Given the description of an element on the screen output the (x, y) to click on. 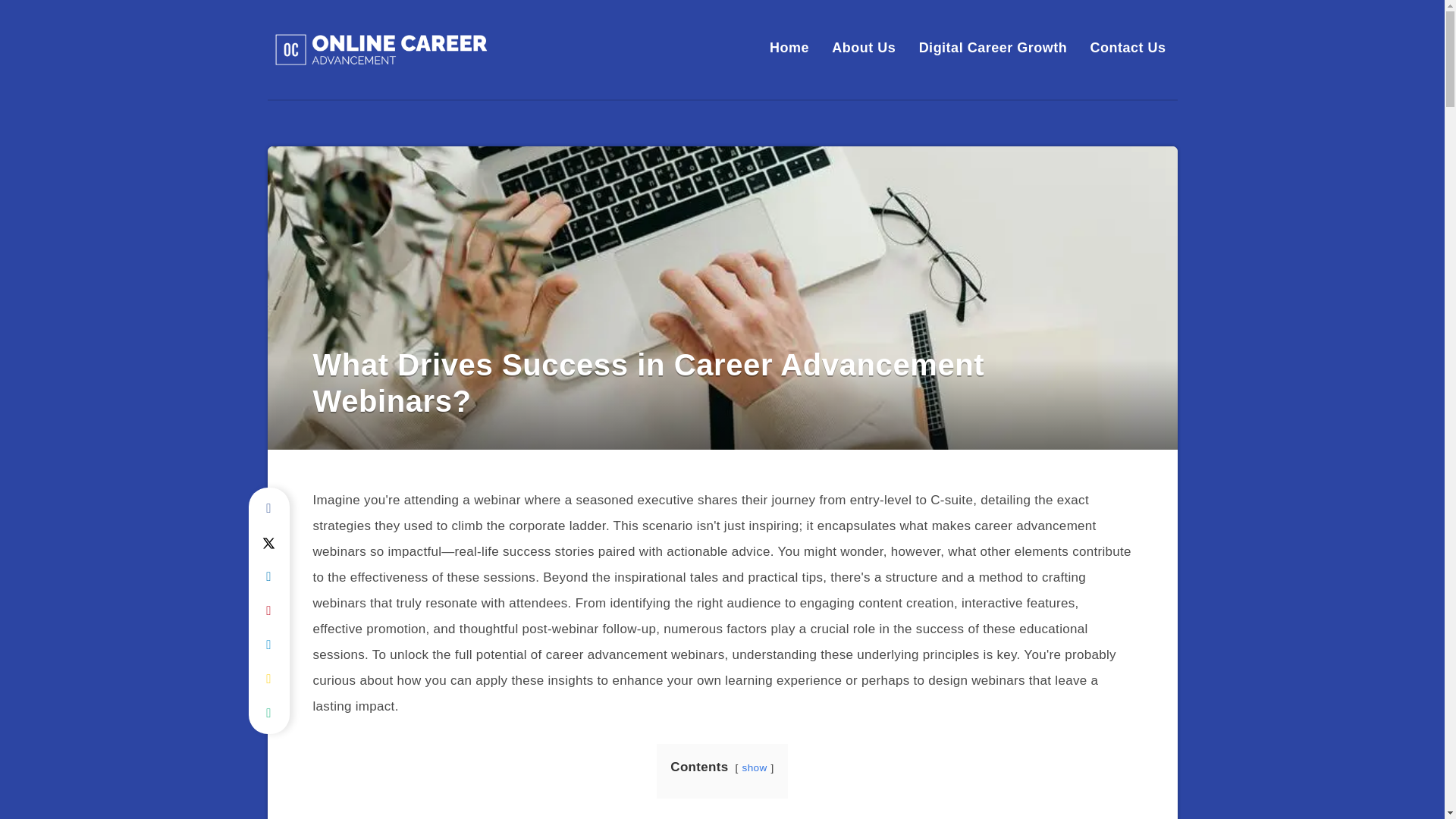
About Us (863, 47)
Digital Career Growth (992, 47)
Home (789, 47)
Contact Us (1127, 47)
show (754, 767)
